Given the description of an element on the screen output the (x, y) to click on. 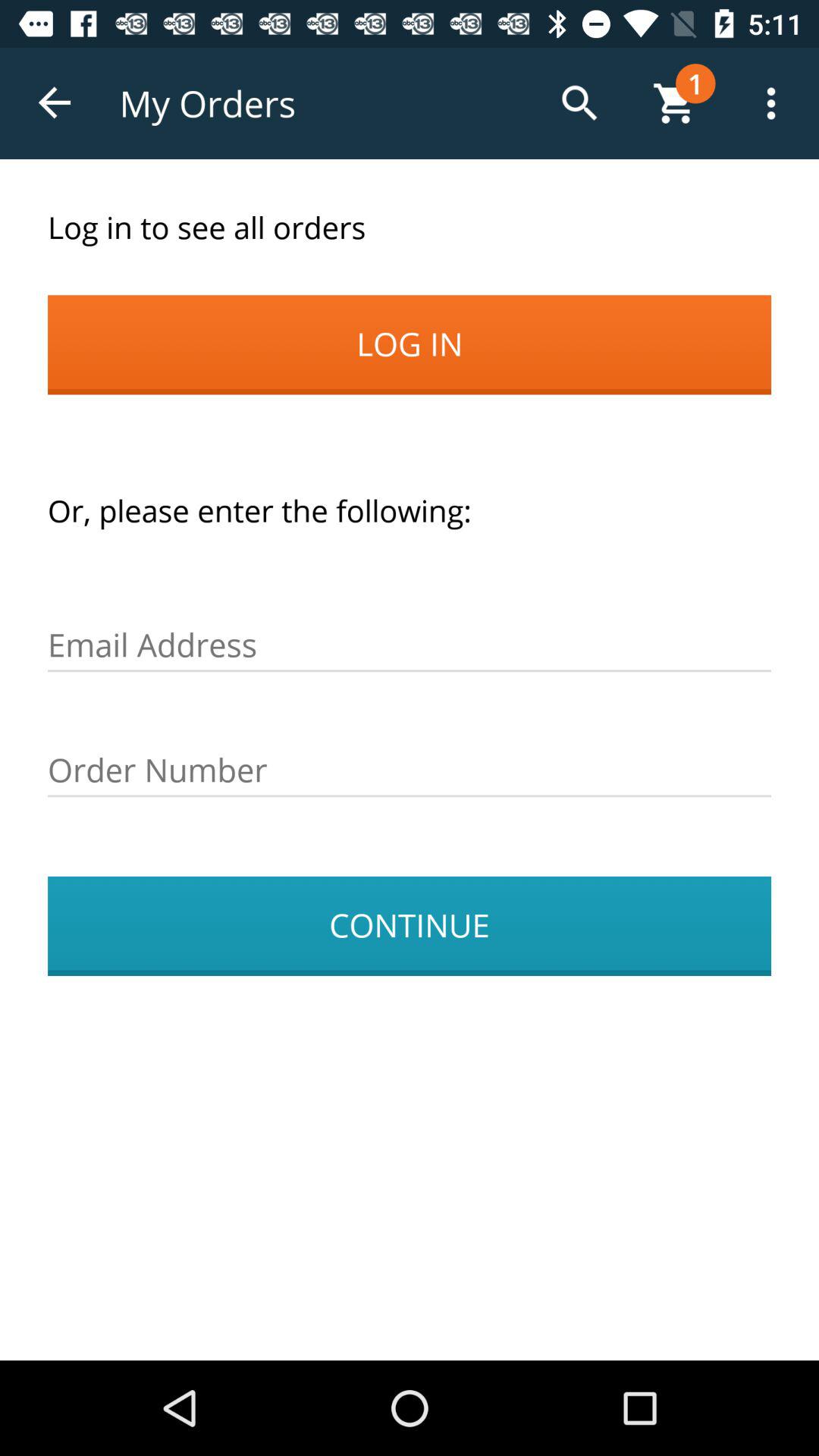
email address (409, 645)
